Given the description of an element on the screen output the (x, y) to click on. 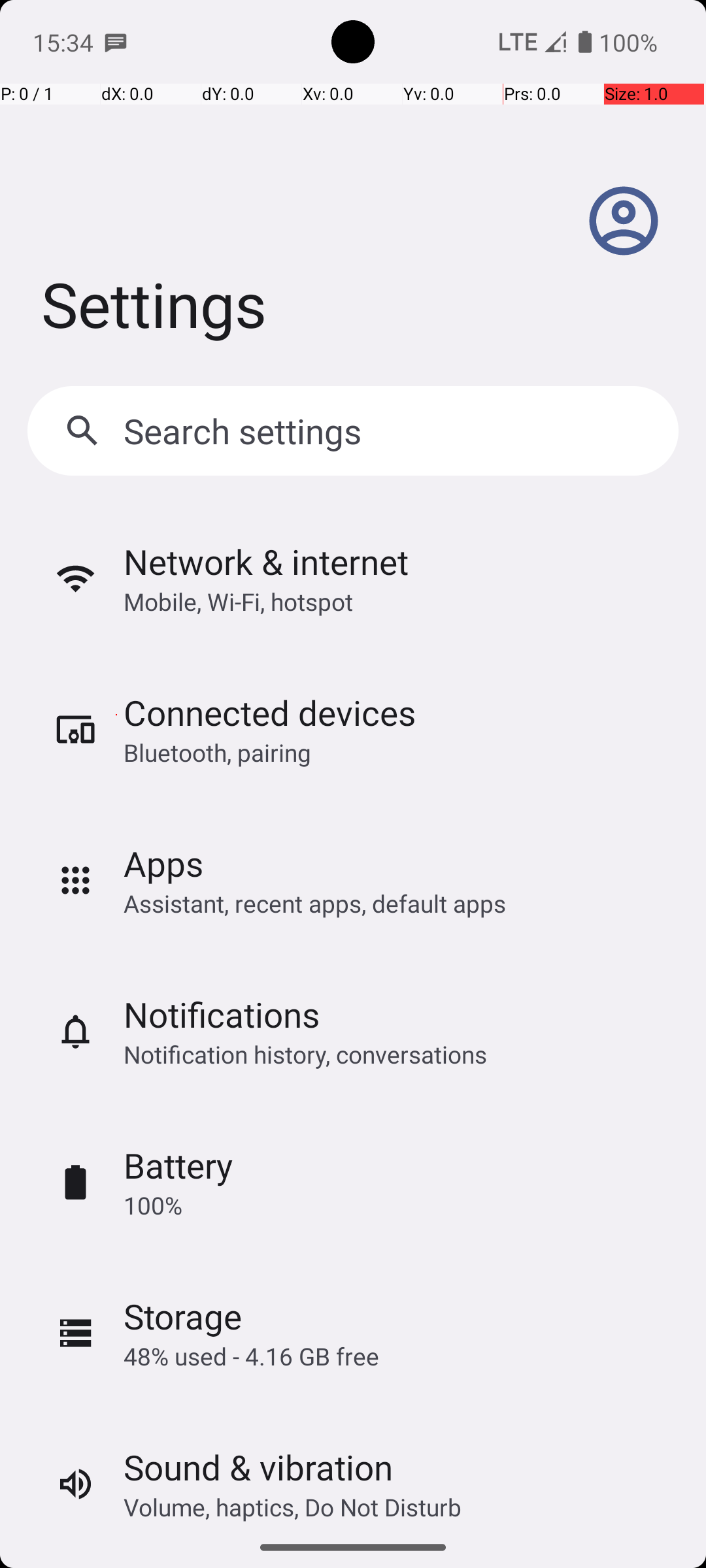
48% used - 4.16 GB free Element type: android.widget.TextView (251, 1355)
